Given the description of an element on the screen output the (x, y) to click on. 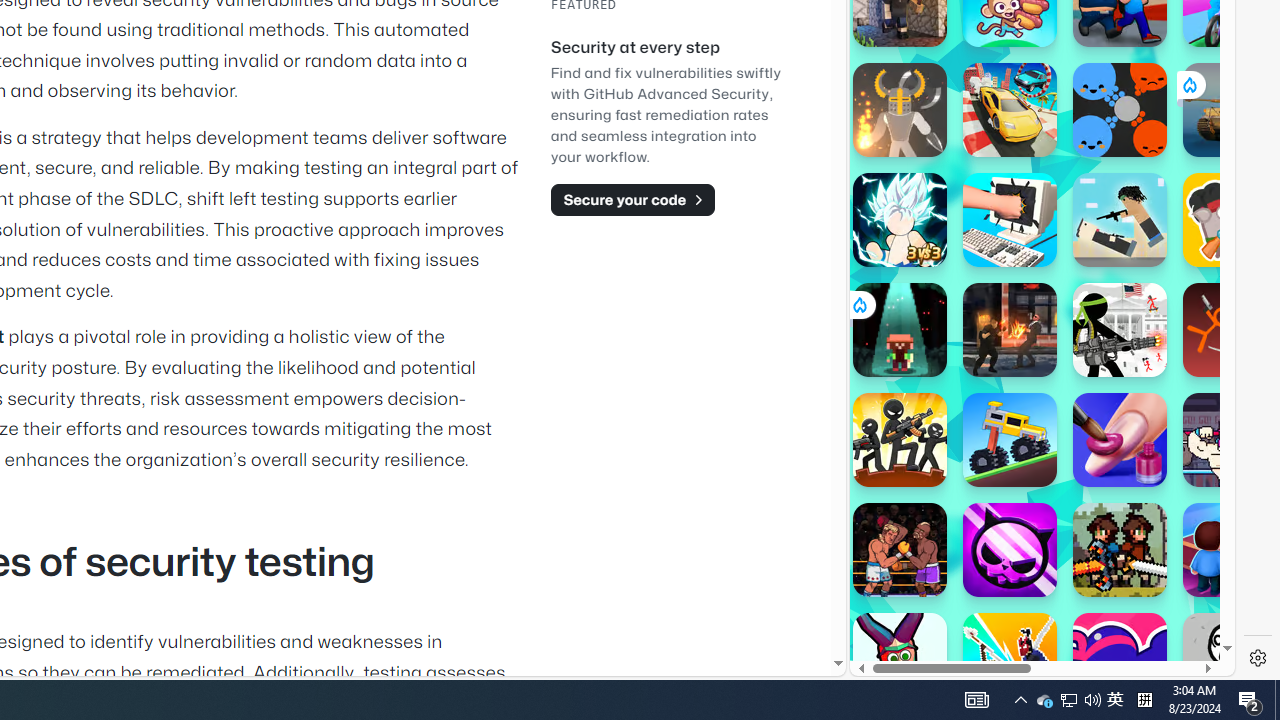
Rowdy Wrestling (1229, 439)
Ragdoll Hit (899, 109)
Crazy Cars Crazy Cars (1009, 109)
Stickman Fight: Ragdoll Stickman Fight: Ragdoll (1229, 329)
Combat Reloaded (1092, 200)
Big Shot Boxing Big Shot Boxing (899, 549)
Crazy Cars (1009, 109)
Rooftop Snipers Rooftop Snipers (1119, 219)
Last Warriors Last Warriors (1009, 659)
Combat Reloaded (1090, 290)
Apple Knight: Fight Apple Knight: Fight (1119, 549)
Smash It (1009, 219)
Hills of Steel (925, 290)
